Given the description of an element on the screen output the (x, y) to click on. 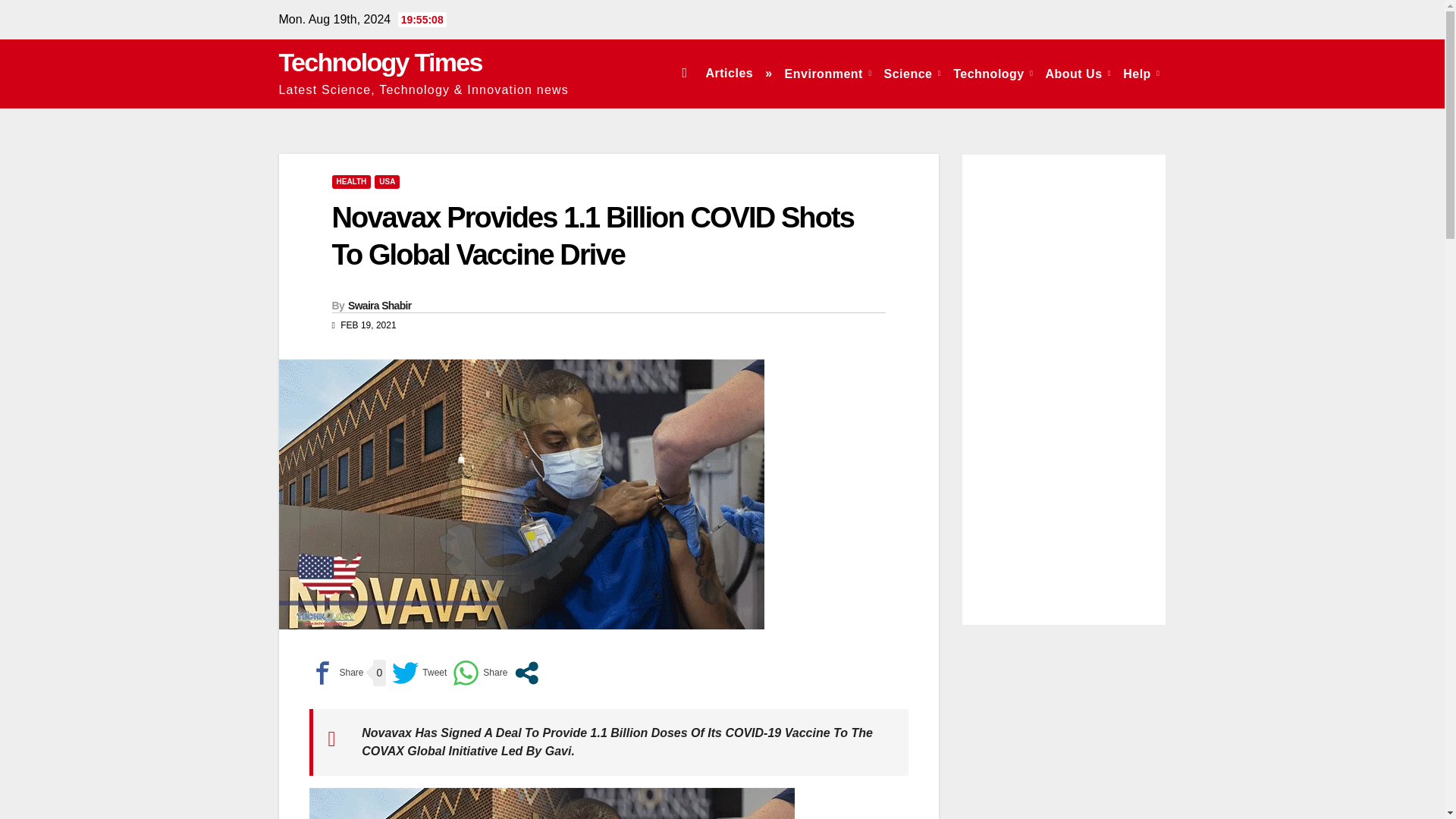
Science (912, 73)
Technology (993, 73)
Technology (993, 73)
About Us (1077, 73)
Environment (827, 73)
Science (912, 73)
Technology Times (380, 61)
Environment (827, 73)
